Given the description of an element on the screen output the (x, y) to click on. 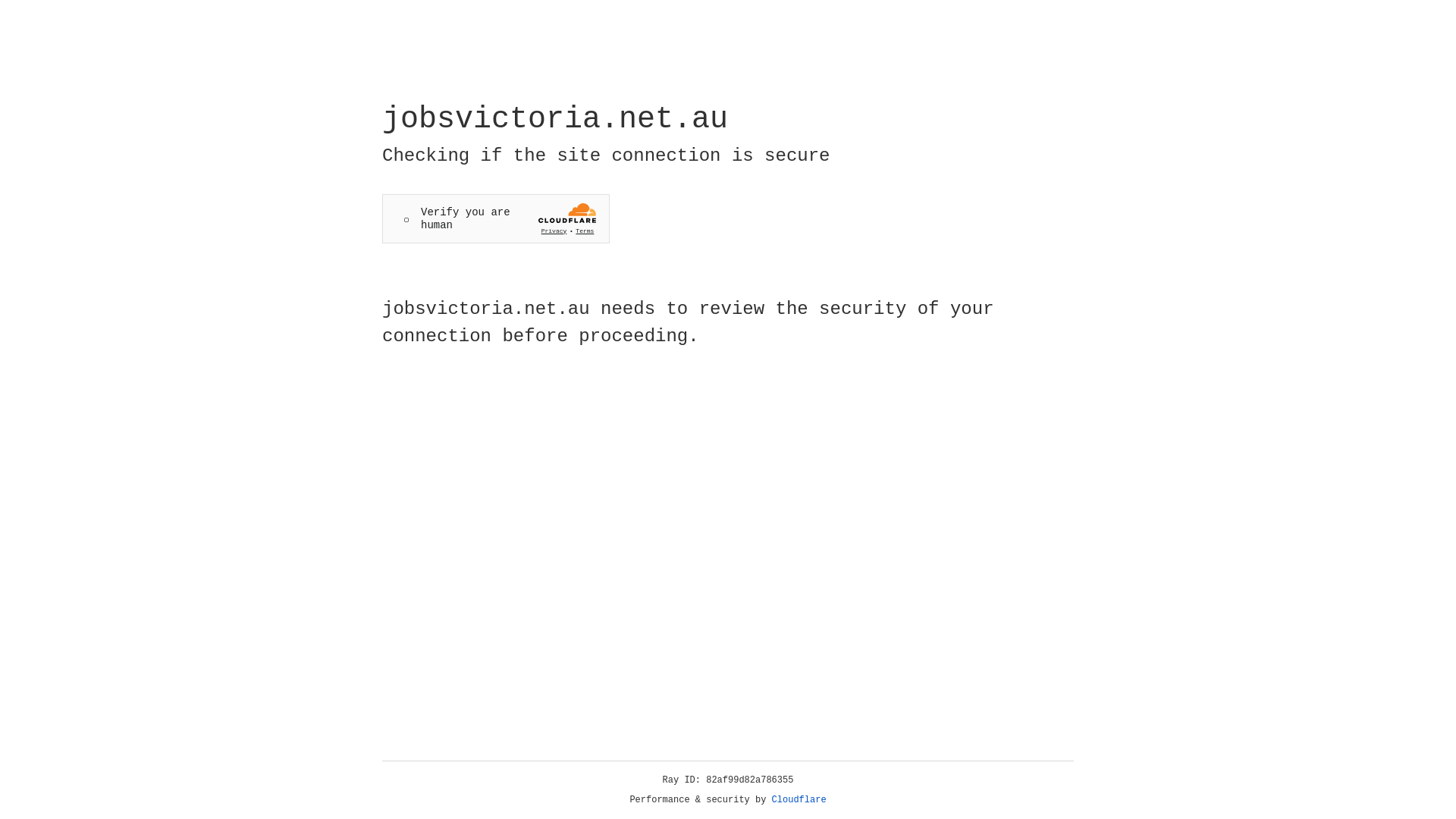
Widget containing a Cloudflare security challenge Element type: hover (495, 218)
Cloudflare Element type: text (798, 799)
